Given the description of an element on the screen output the (x, y) to click on. 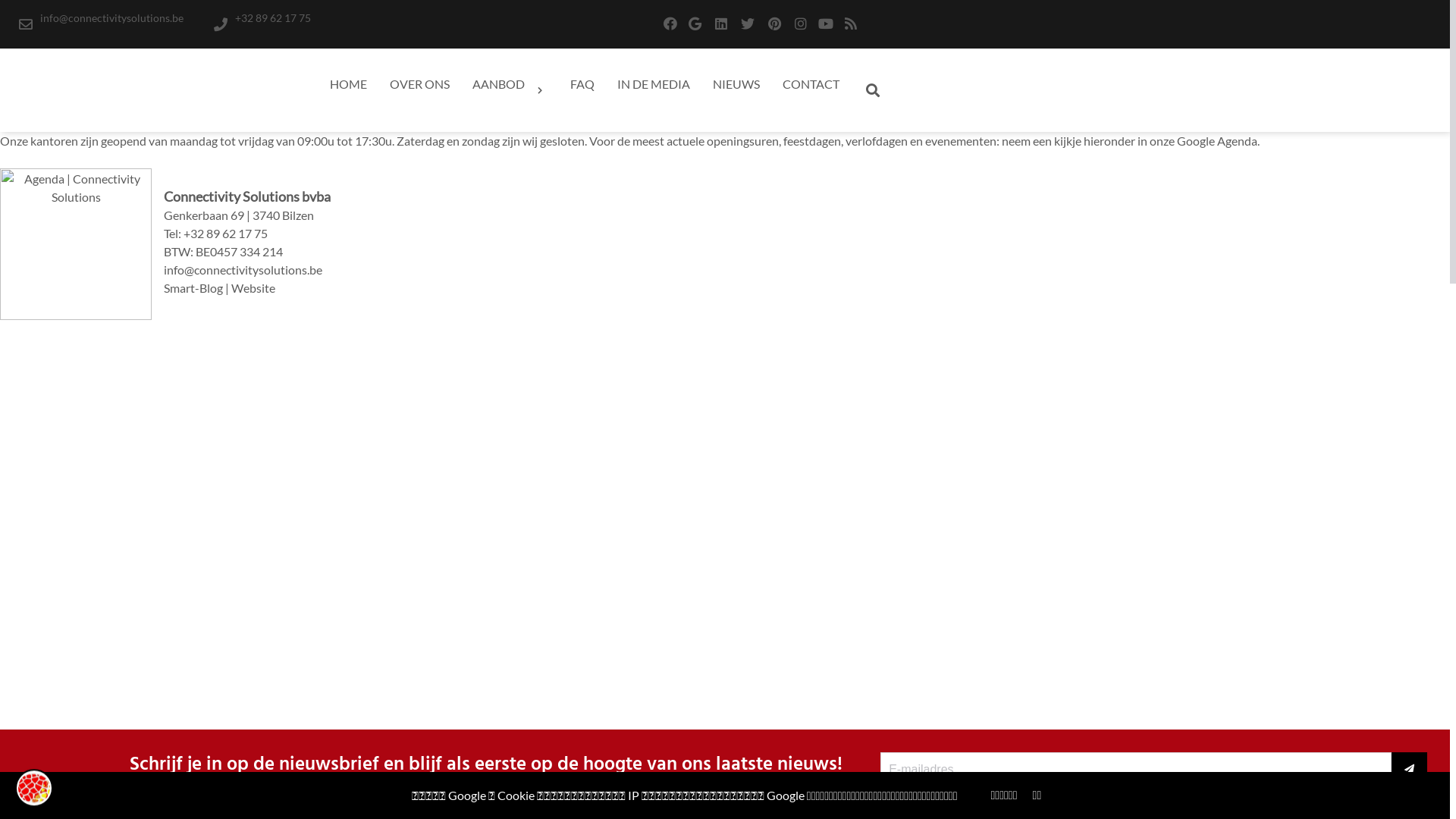
info@connectivitysolutions.be Element type: text (242, 269)
+32 89 62 17 75 Element type: text (261, 24)
info@connectivitysolutions.be Element type: text (100, 24)
FAQ Element type: text (582, 84)
IN DE MEDIA Element type: text (653, 84)
NIEUWS Element type: text (735, 84)
Website Element type: text (253, 287)
HOME Element type: text (348, 84)
CONTACT Element type: text (810, 84)
OVER ONS Element type: text (419, 84)
Smart-Blog Element type: text (192, 287)
Bekijk de vorige updates Element type: text (1153, 795)
AANBOD Element type: text (509, 90)
